Given the description of an element on the screen output the (x, y) to click on. 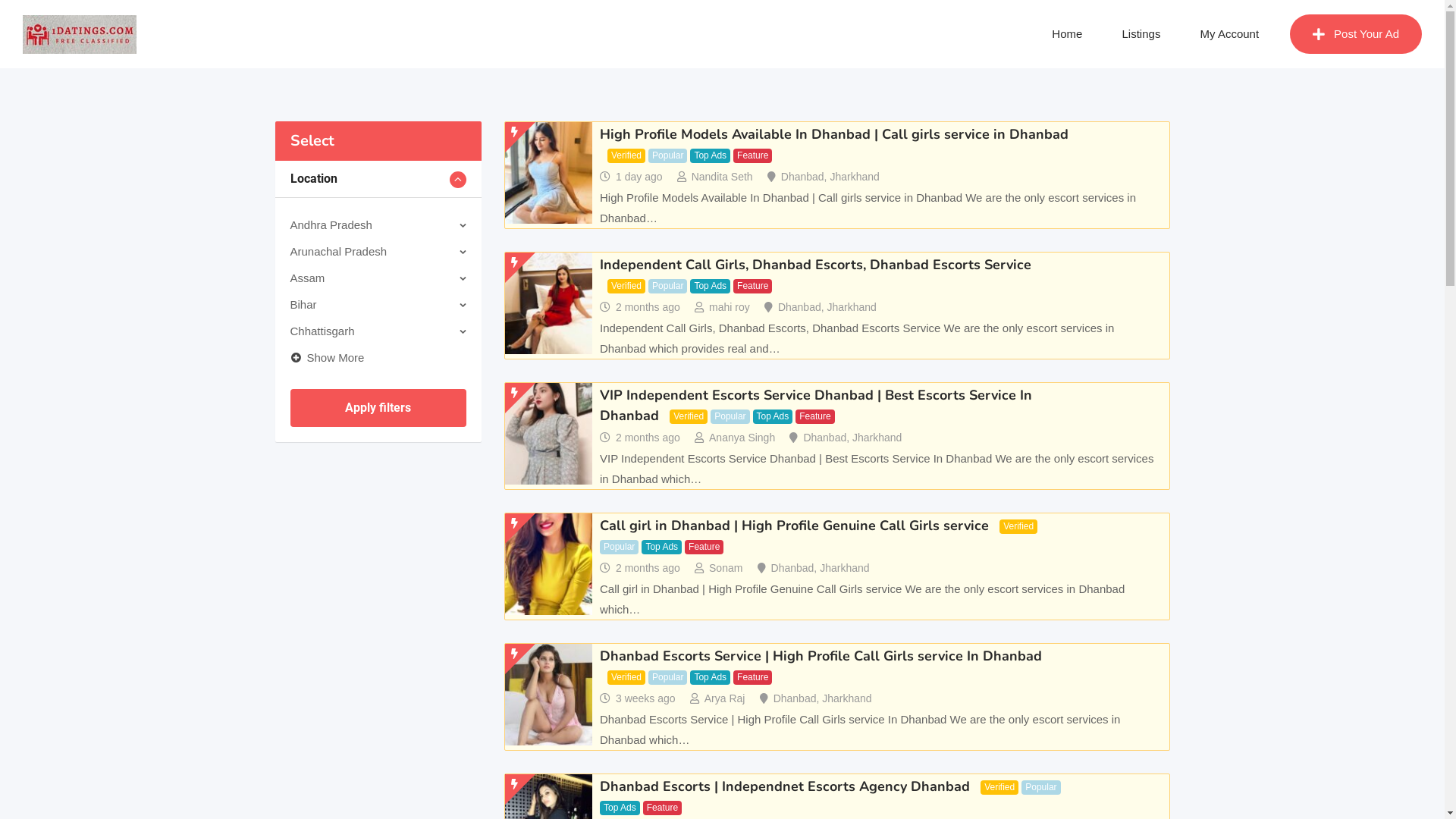
Arunachal Pradesh Element type: text (337, 250)
My Account Element type: text (1229, 34)
Bihar Element type: text (302, 304)
Home Element type: text (1066, 34)
Andhra Pradesh Element type: text (330, 224)
Post Your Ad Element type: text (1355, 33)
Location Element type: text (377, 178)
Dhanbad Escorts | Independnet Escorts Agency Dhanbad Element type: text (784, 786)
Chhattisgarh Element type: text (321, 330)
Apply filters Element type: text (377, 407)
Assam Element type: text (306, 277)
Listings Element type: text (1141, 34)
